Given the description of an element on the screen output the (x, y) to click on. 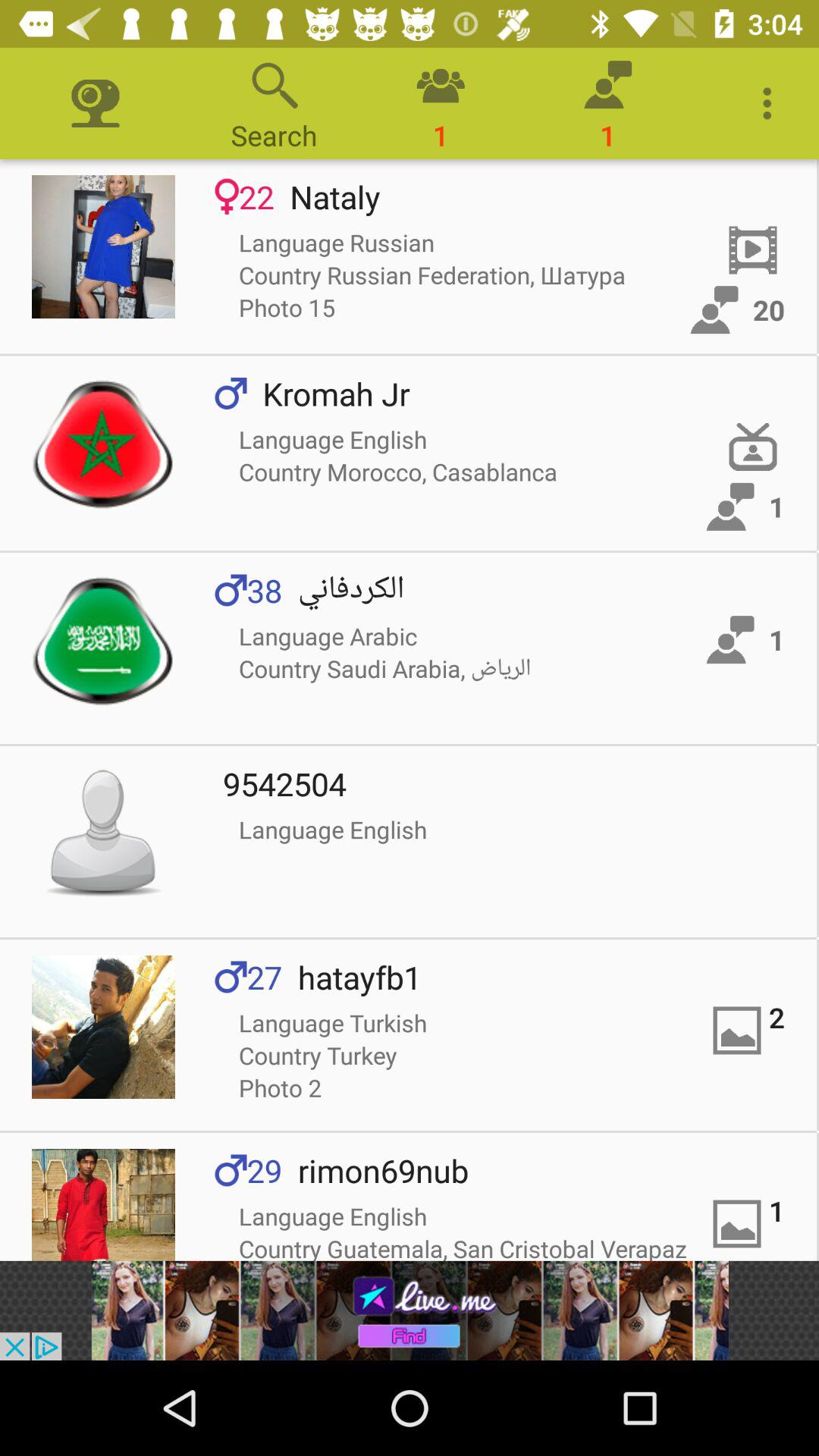
open kromah jr (103, 443)
